Given the description of an element on the screen output the (x, y) to click on. 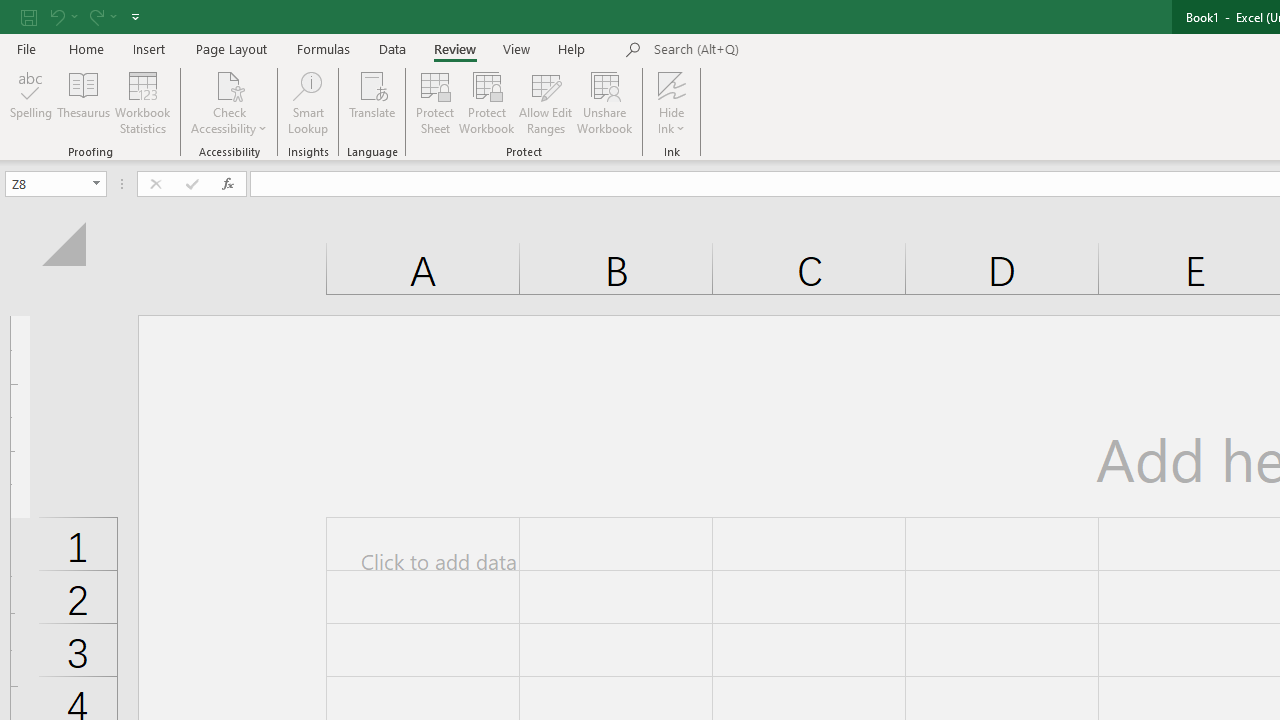
Protect Sheet... (434, 102)
